Given the description of an element on the screen output the (x, y) to click on. 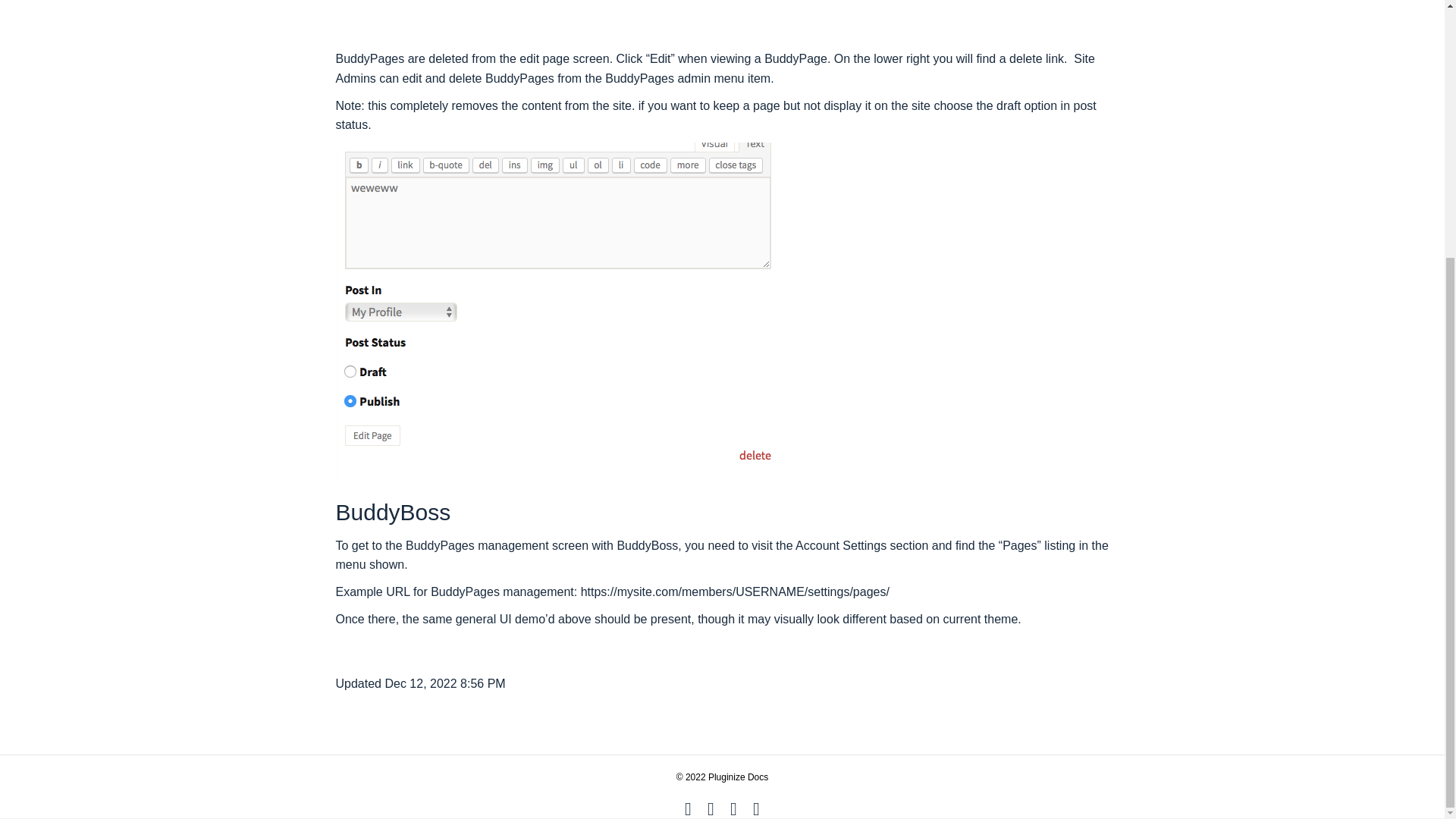
Twitter (710, 809)
Youtube (733, 809)
Instagram (755, 809)
Facebook (687, 809)
